Given the description of an element on the screen output the (x, y) to click on. 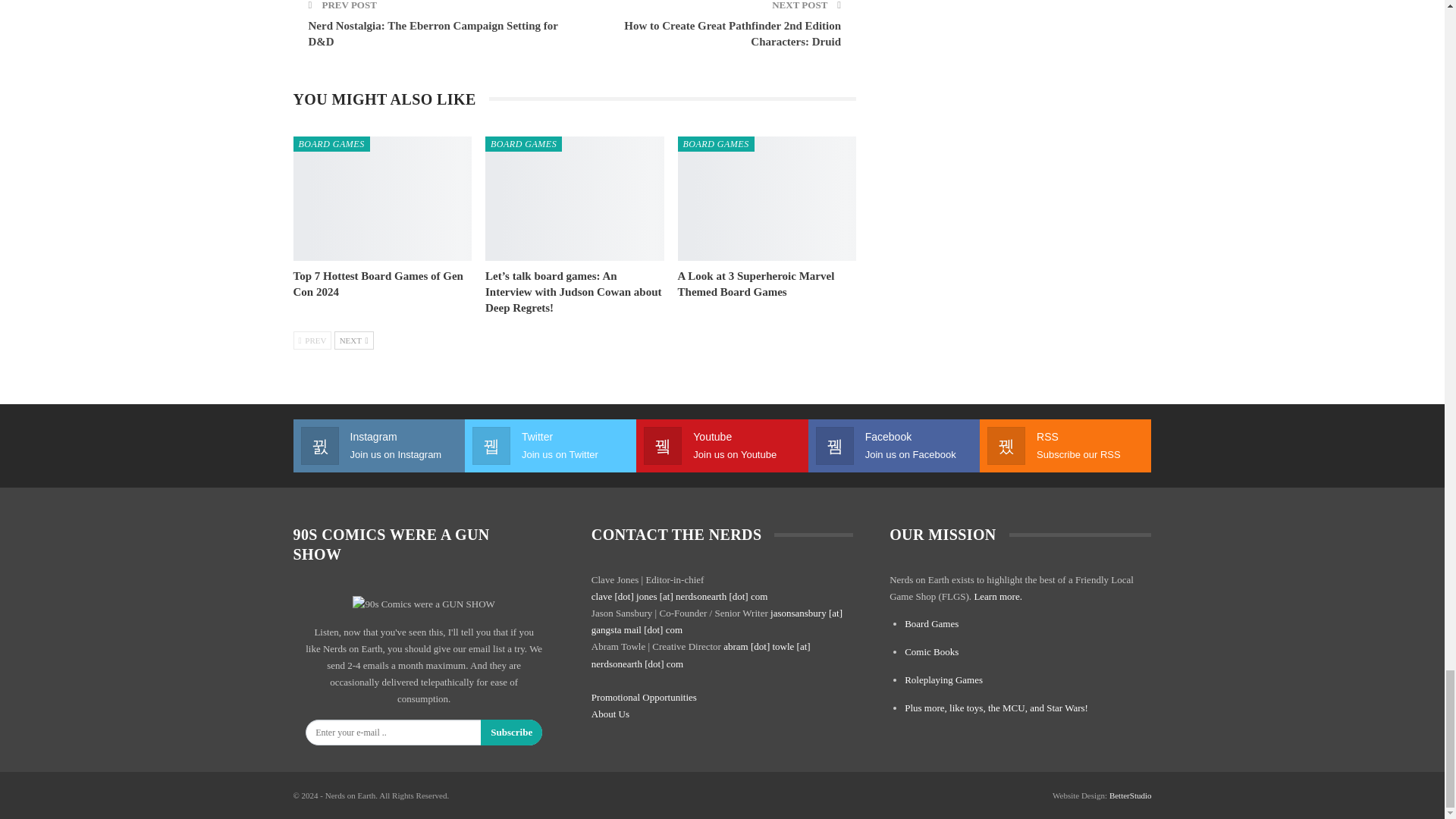
Top 7 Hottest Board Games of Gen Con 2024 (377, 284)
Next (354, 340)
A Look at 3 Superheroic Marvel Themed Board Games (767, 198)
A Look at 3 Superheroic Marvel Themed Board Games (756, 284)
Previous (311, 340)
Top 7 Hottest Board Games of Gen Con 2024 (381, 198)
